Given the description of an element on the screen output the (x, y) to click on. 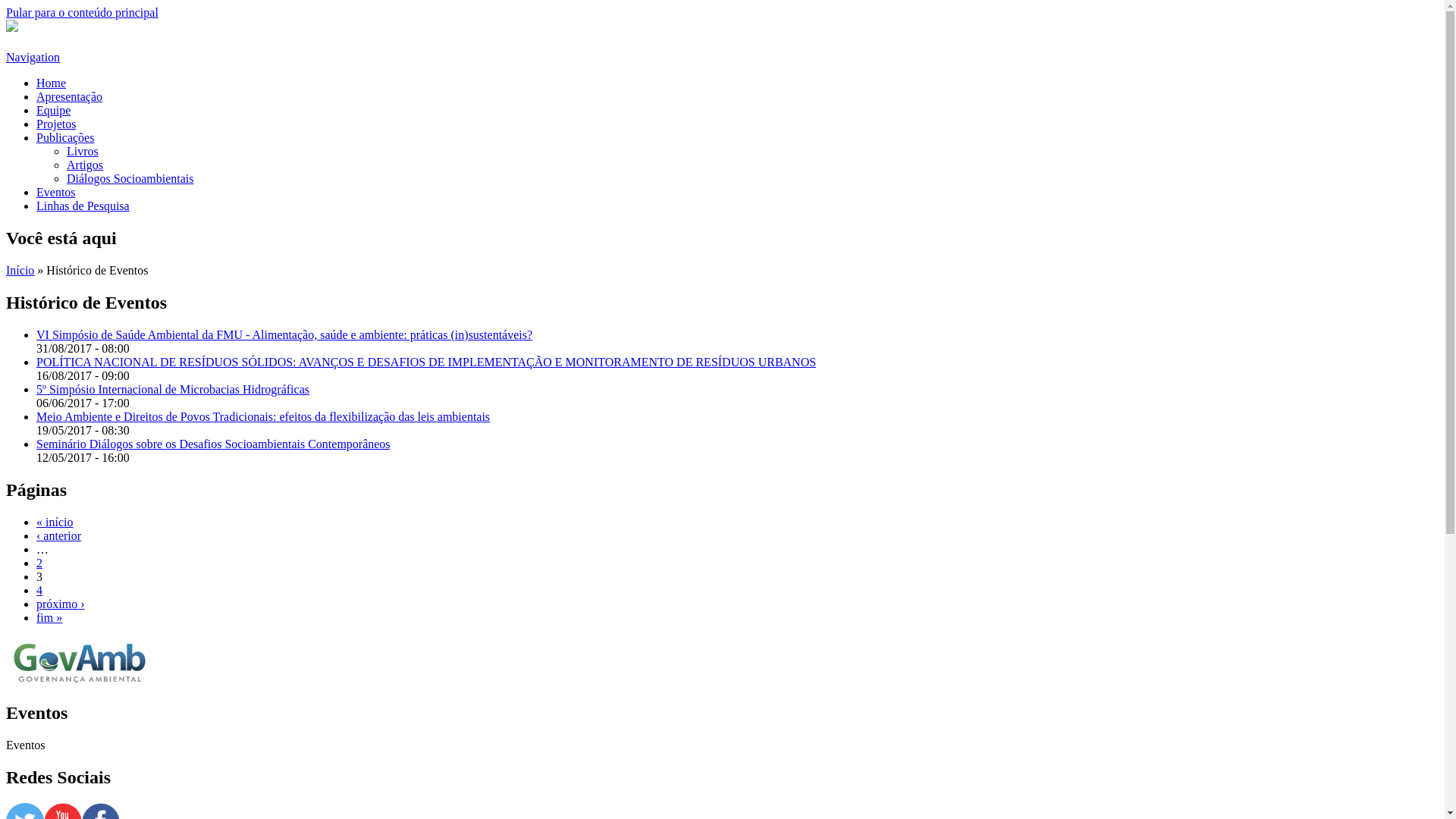
Eventos Element type: text (55, 191)
2 Element type: text (39, 562)
4 Element type: text (39, 589)
Projetos Element type: text (55, 123)
Navigation Element type: text (32, 56)
Linhas de Pesquisa Element type: text (82, 205)
Home Element type: text (50, 82)
Artigos Element type: text (84, 164)
Equipe Element type: text (53, 109)
Livros Element type: text (82, 150)
